Given the description of an element on the screen output the (x, y) to click on. 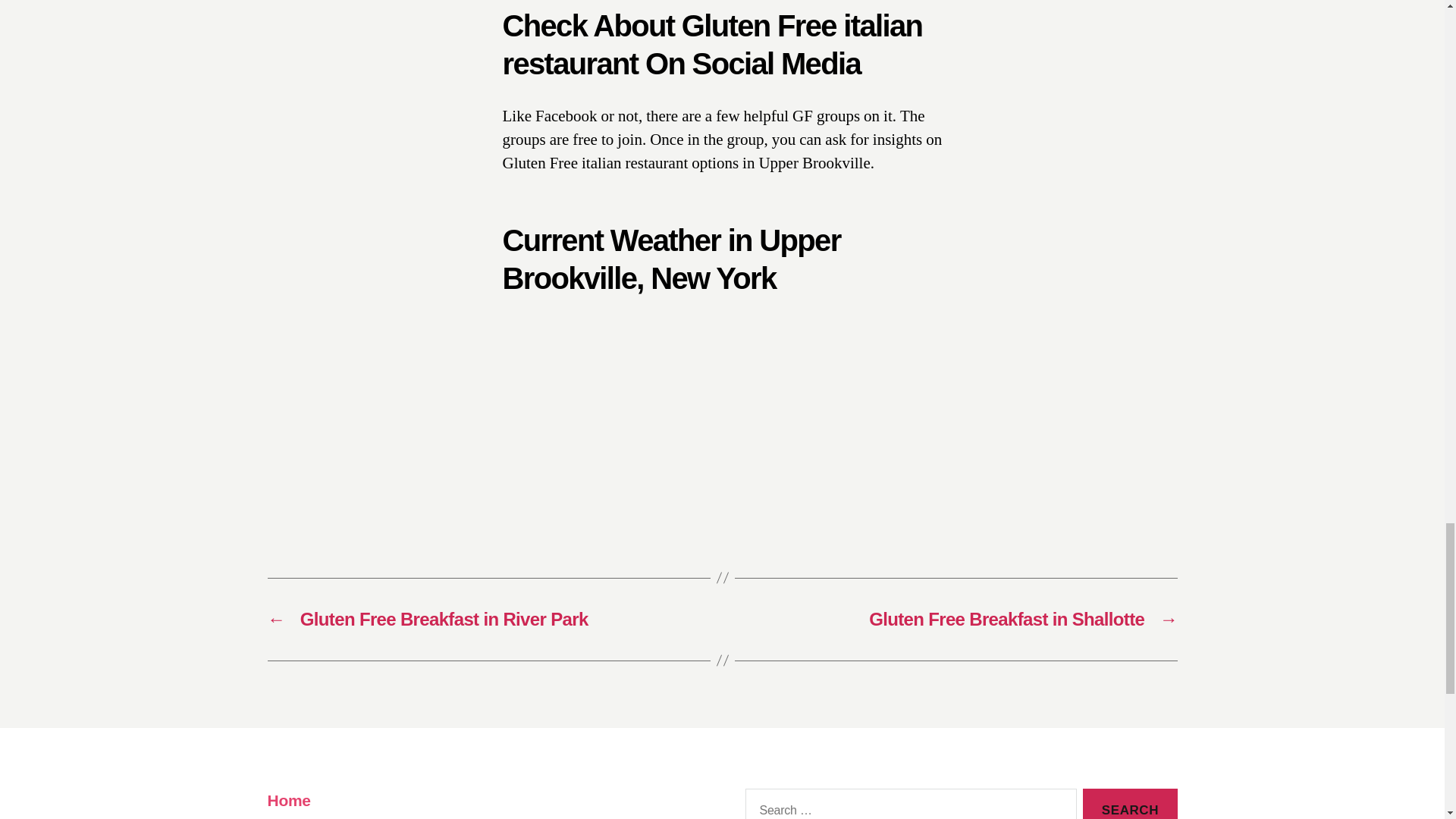
Search (1129, 803)
Search (1129, 803)
